Given the description of an element on the screen output the (x, y) to click on. 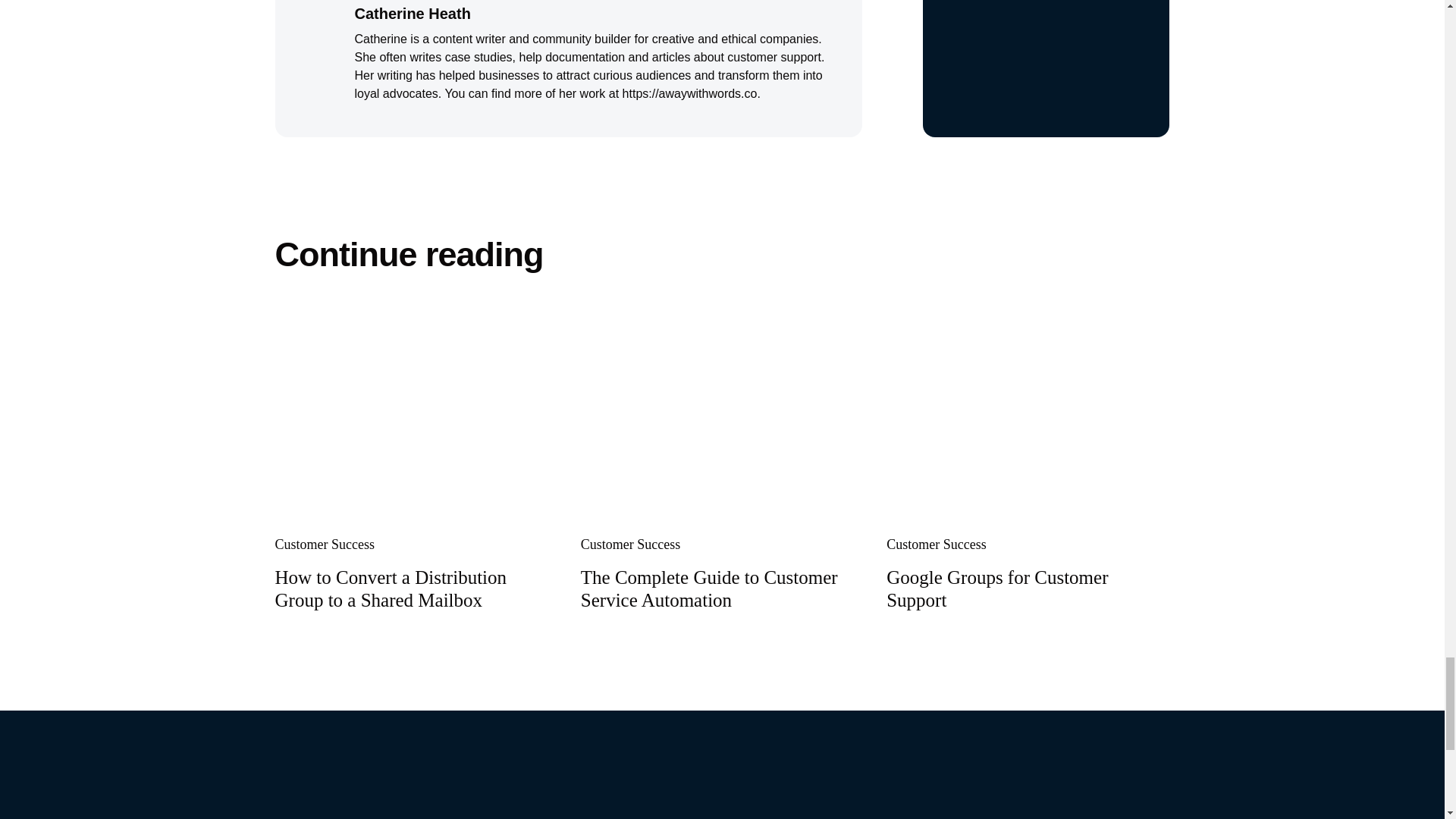
How to Convert a Distribution Group to a Shared Mailbox (390, 588)
The Complete Guide to Customer Service Automation (721, 416)
How to Convert a Distribution Group to a Shared Mailbox (416, 416)
